Given the description of an element on the screen output the (x, y) to click on. 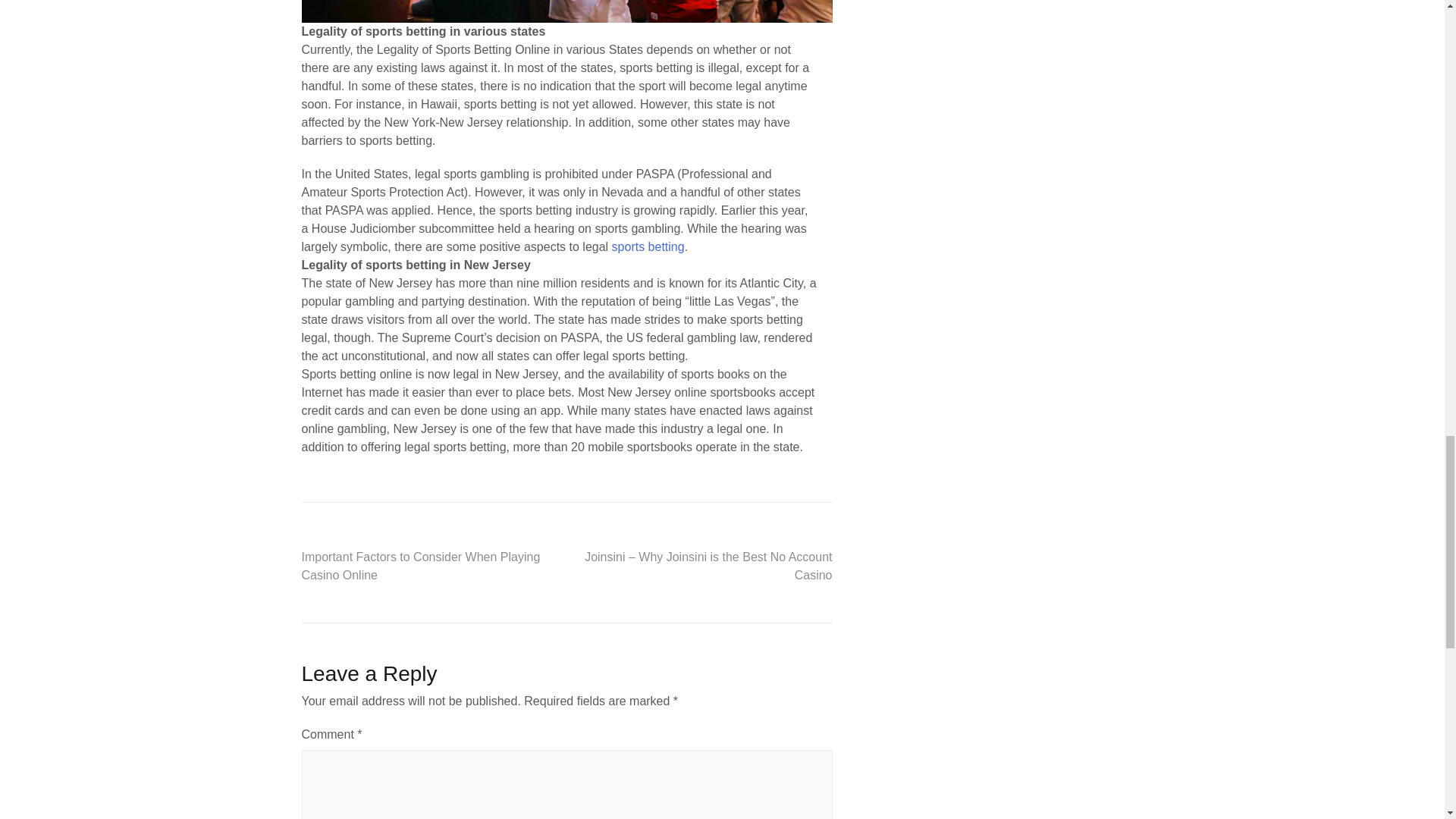
sports betting (647, 246)
Important Factors to Consider When Playing Casino Online (420, 565)
